Given the description of an element on the screen output the (x, y) to click on. 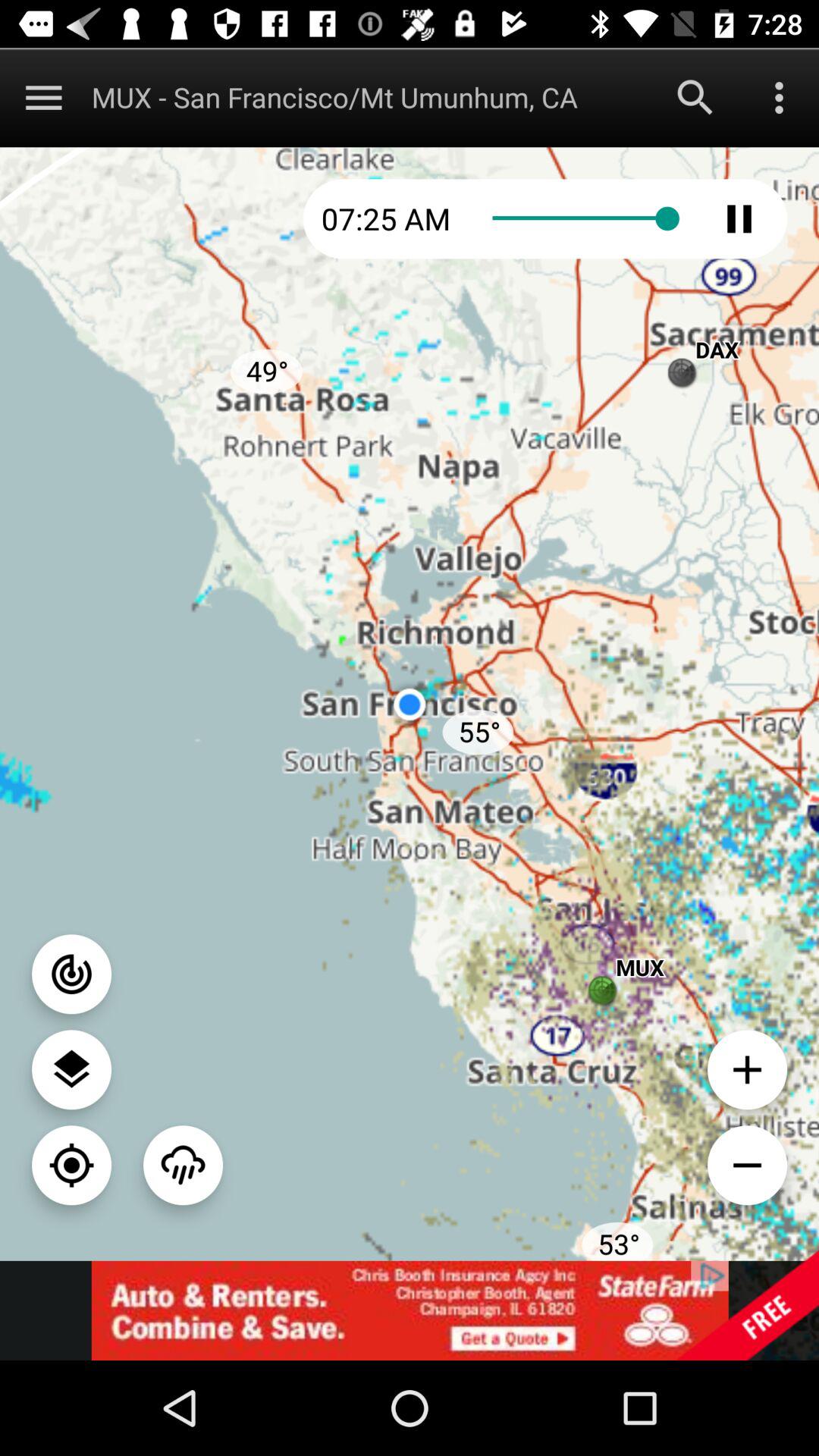
more options (43, 97)
